Given the description of an element on the screen output the (x, y) to click on. 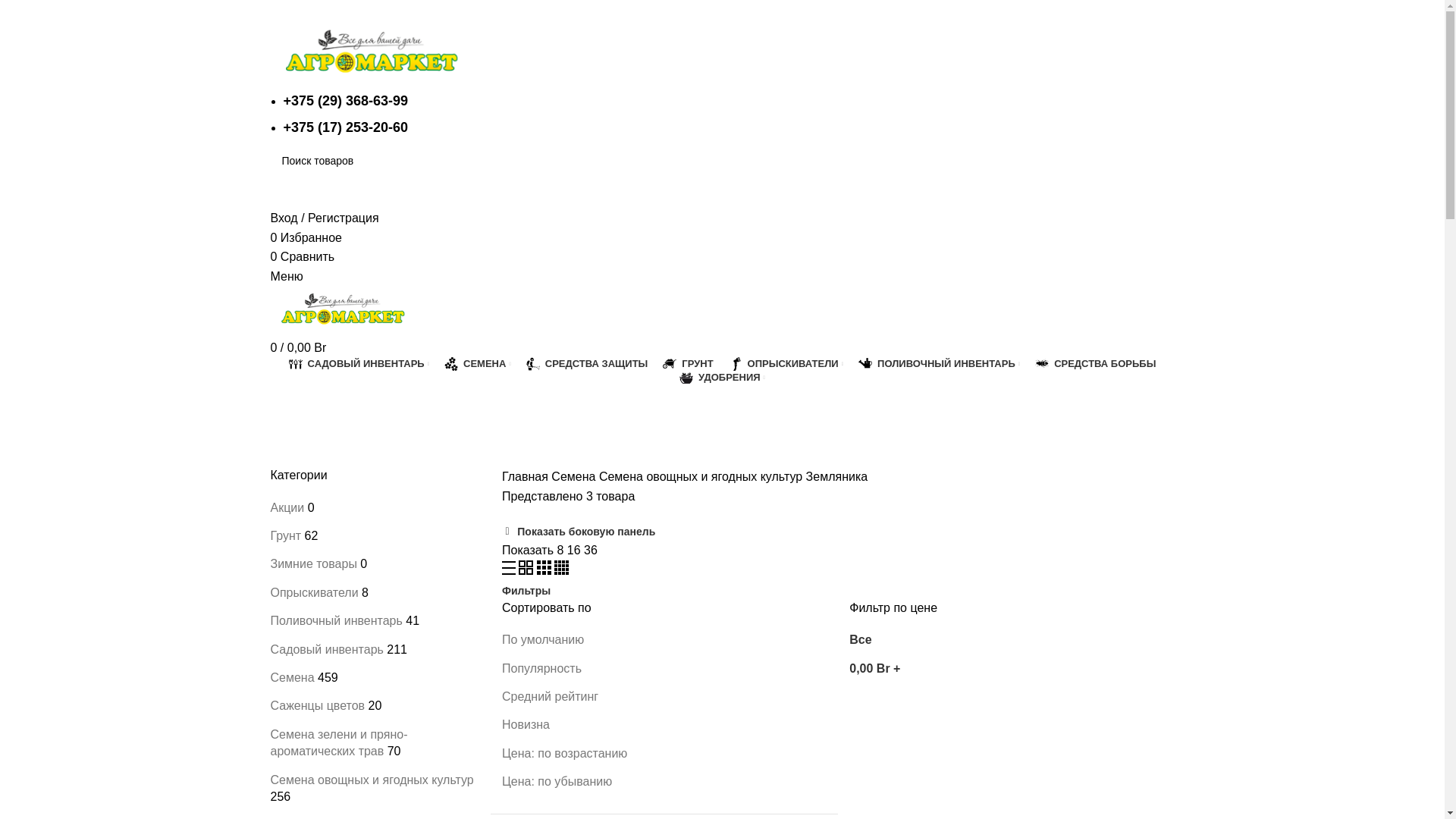
0 / 0,00 Br Element type: text (297, 347)
16 Element type: text (575, 549)
0,00 Br + Element type: text (874, 668)
36 Element type: text (590, 549)
8 Element type: text (561, 549)
